Given the description of an element on the screen output the (x, y) to click on. 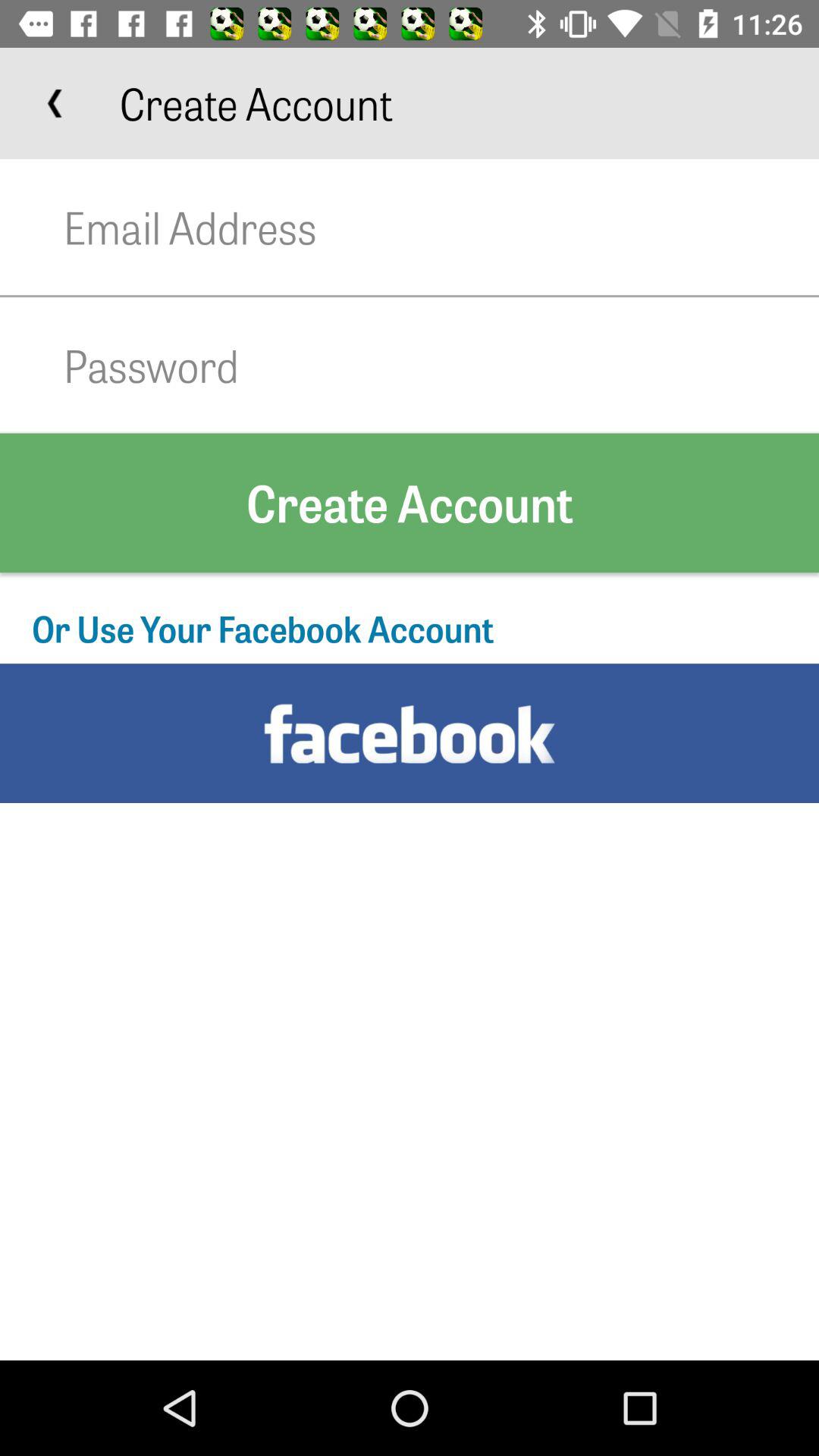
enter email address (441, 227)
